Given the description of an element on the screen output the (x, y) to click on. 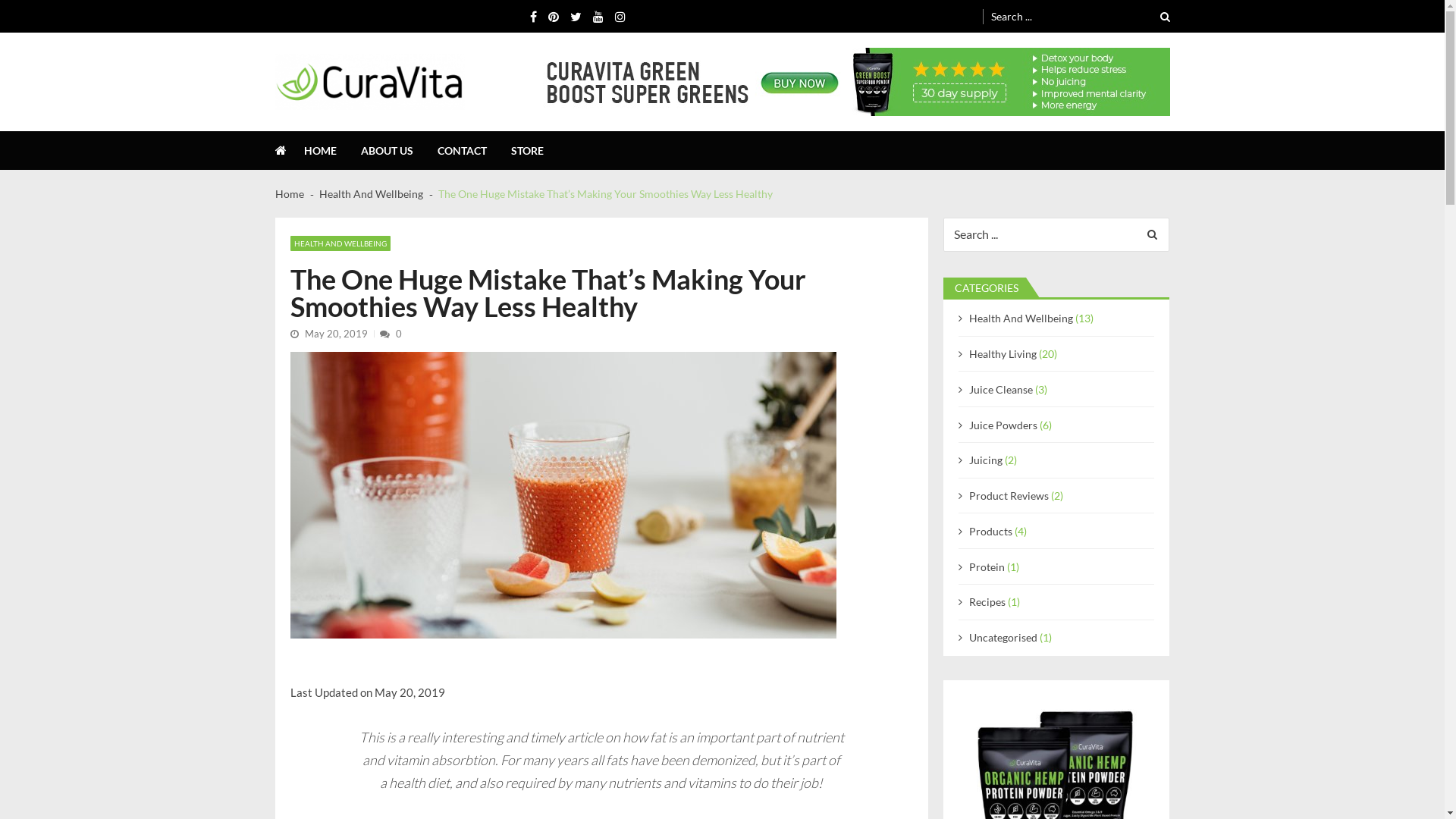
Products Element type: text (990, 530)
Search Element type: text (1150, 234)
Skip to content Element type: text (39, 7)
Juice Cleanse Element type: text (1000, 388)
Health And Wellbeing Element type: text (1021, 317)
Protein Element type: text (986, 566)
Curavita Blog Element type: text (323, 117)
Product Reviews Element type: text (1008, 495)
Uncategorised Element type: text (1003, 636)
Health And Wellbeing Element type: text (370, 193)
HEALTH AND WELLBEING Element type: text (339, 243)
CONTACT Element type: text (474, 150)
HOME Element type: text (332, 150)
ABOUT US Element type: text (398, 150)
Skip to navigation Element type: text (46, 7)
Juicing Element type: text (985, 459)
Recipes Element type: text (987, 601)
Juice Powders Element type: text (1003, 424)
Healthy Living Element type: text (1002, 353)
STORE Element type: text (539, 150)
Home Element type: text (288, 193)
Search Element type: text (1157, 16)
